Given the description of an element on the screen output the (x, y) to click on. 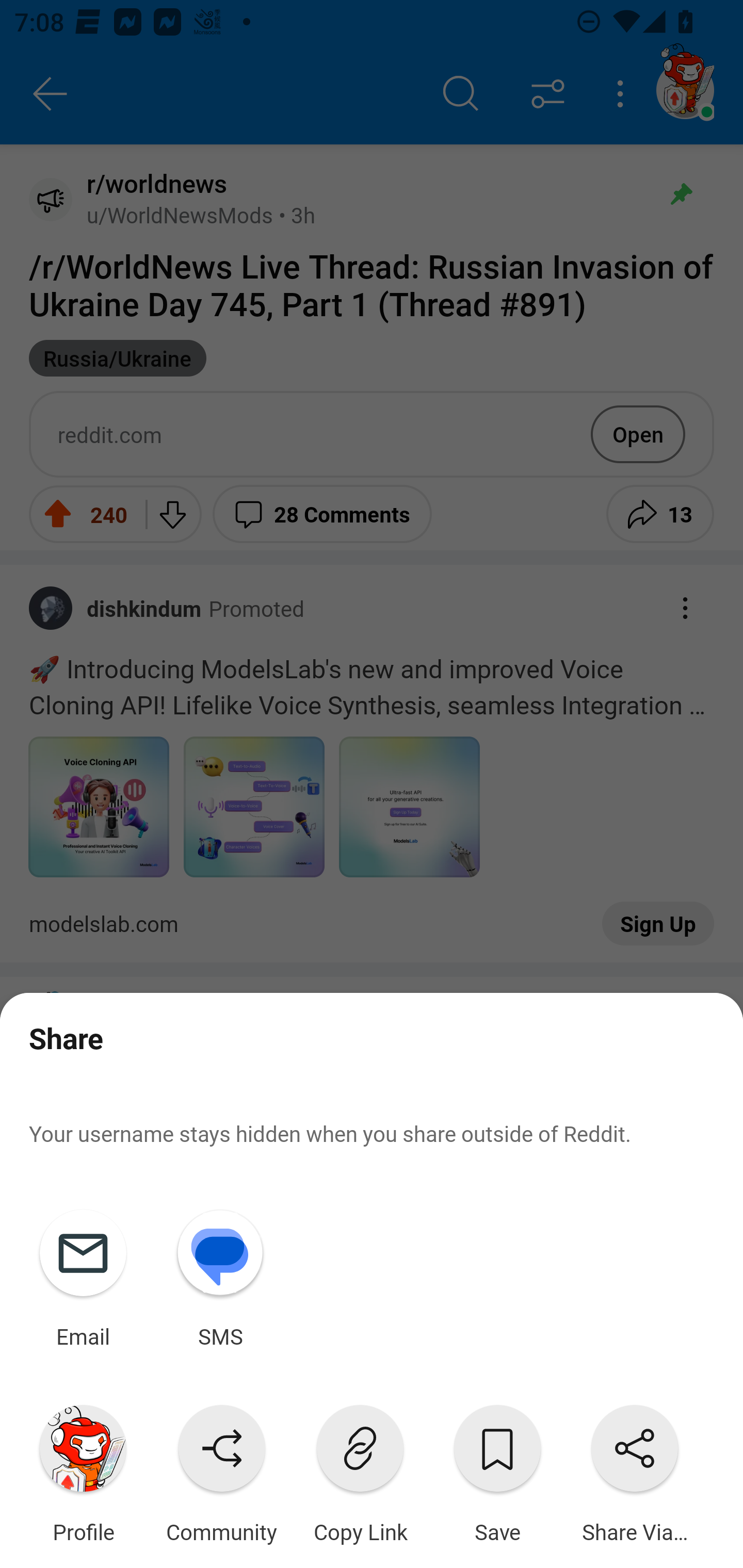
Email (82, 1274)
SMS (220, 1274)
Profile (82, 1470)
Community (221, 1470)
Copy Link (359, 1470)
Save (497, 1470)
Share Via… (634, 1470)
